Given the description of an element on the screen output the (x, y) to click on. 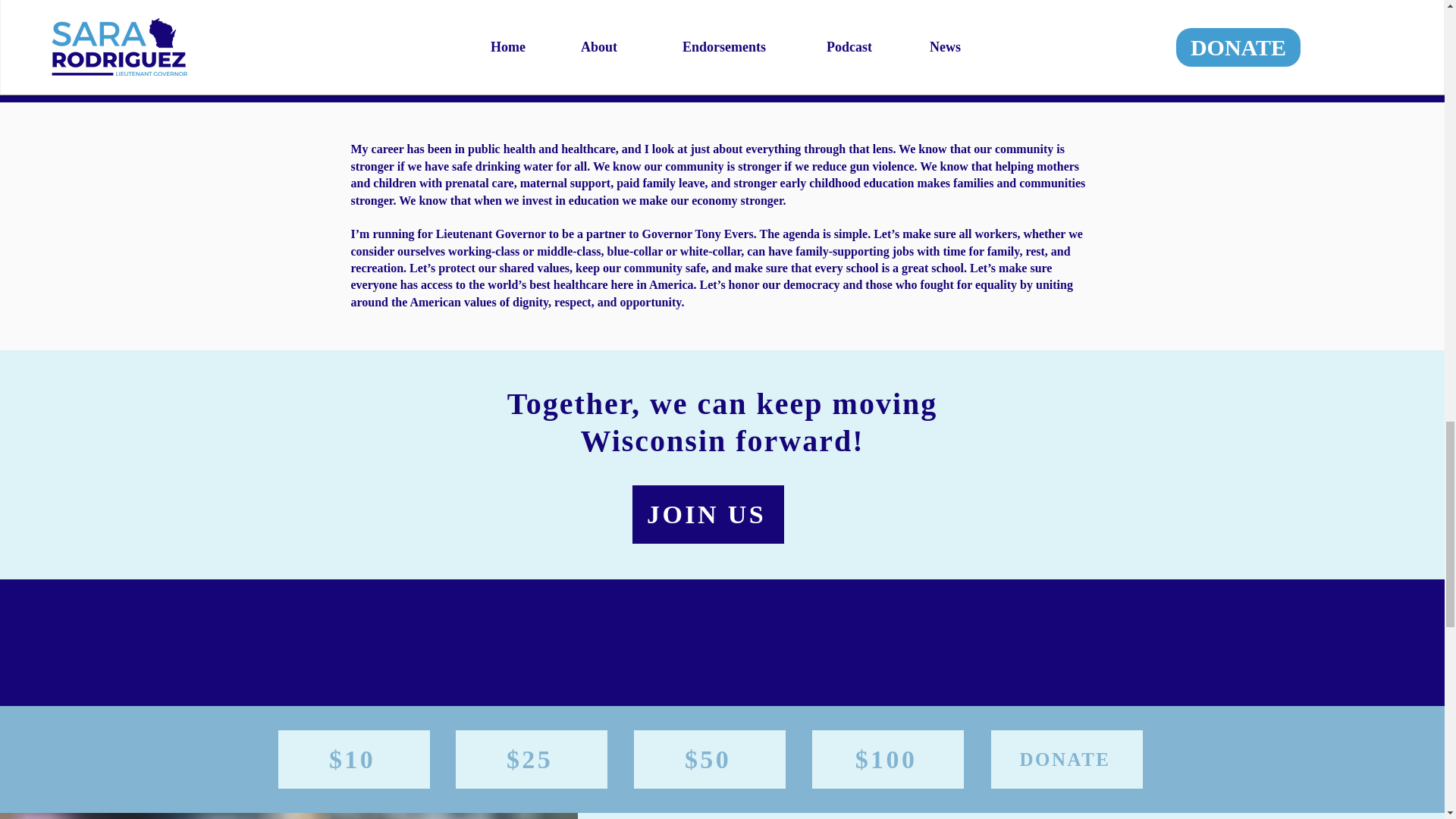
DONATE (1065, 759)
JOIN US (707, 514)
